Given the description of an element on the screen output the (x, y) to click on. 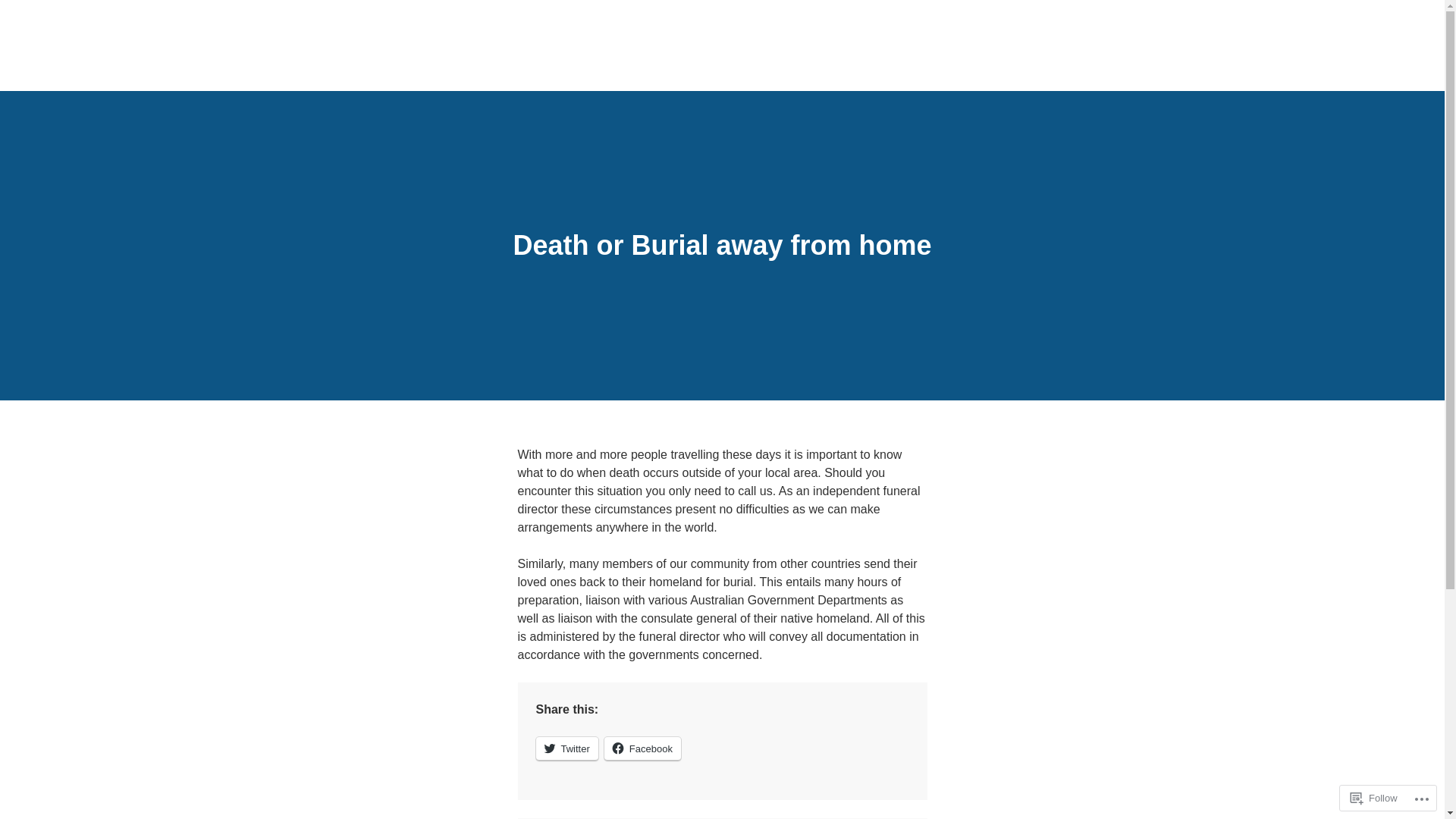
Twitter Element type: text (566, 748)
Follow Element type: text (1373, 797)
Facebook Element type: text (642, 748)
CENTRAL HIGHLANDS FUNERALS Element type: text (597, 93)
